Given the description of an element on the screen output the (x, y) to click on. 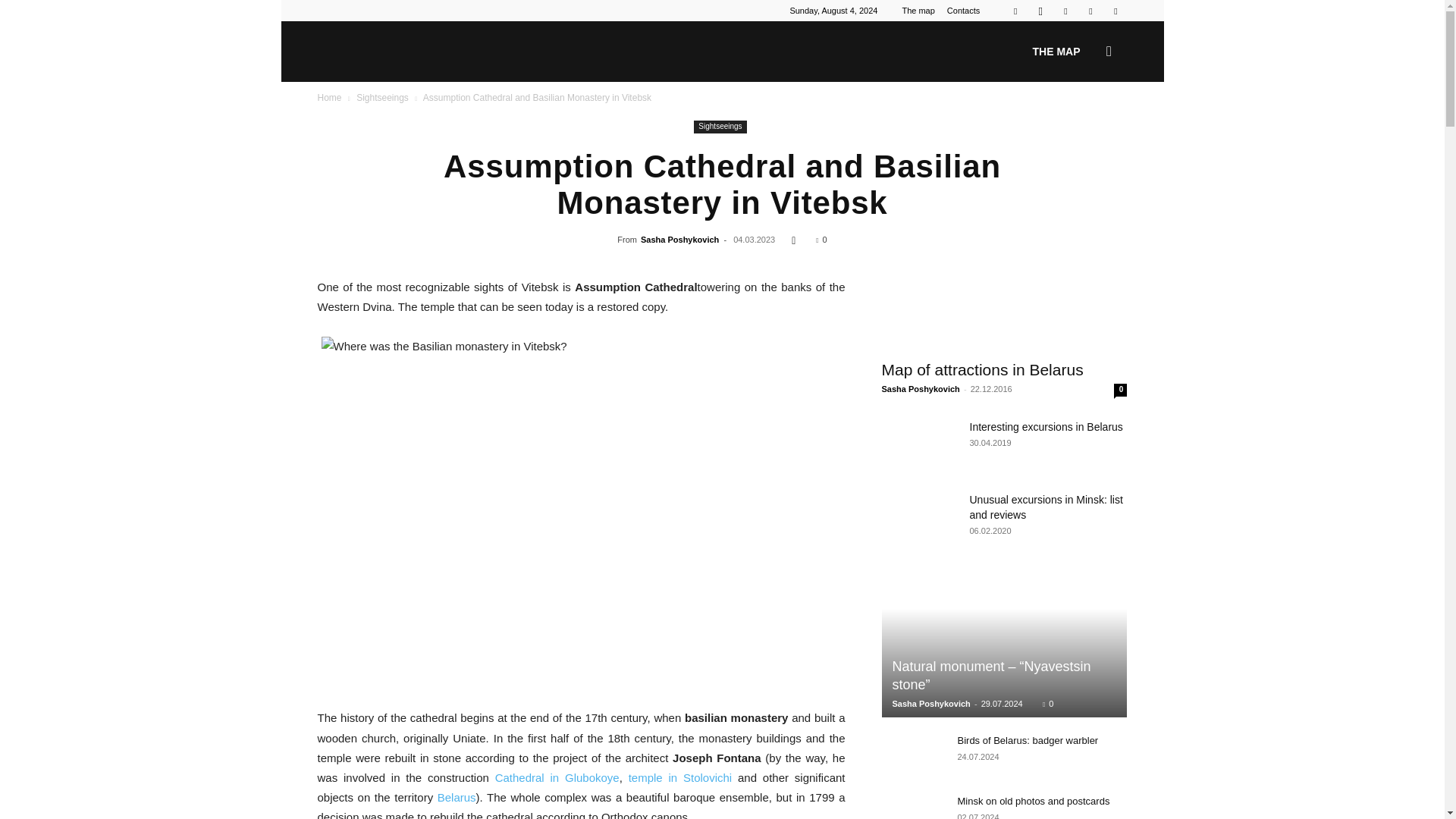
Belarus (457, 797)
Youtube (1114, 10)
temple in Stolovichi (680, 777)
Sasha Poshykovich (679, 239)
Instagram (1040, 10)
Sightseeings (382, 97)
Facebook (1015, 10)
Search (1085, 124)
VKontakte (1090, 10)
THE MAP (1056, 51)
Home (328, 97)
Sightseeings (719, 126)
0 (821, 239)
The map (917, 10)
Contacts (963, 10)
